Given the description of an element on the screen output the (x, y) to click on. 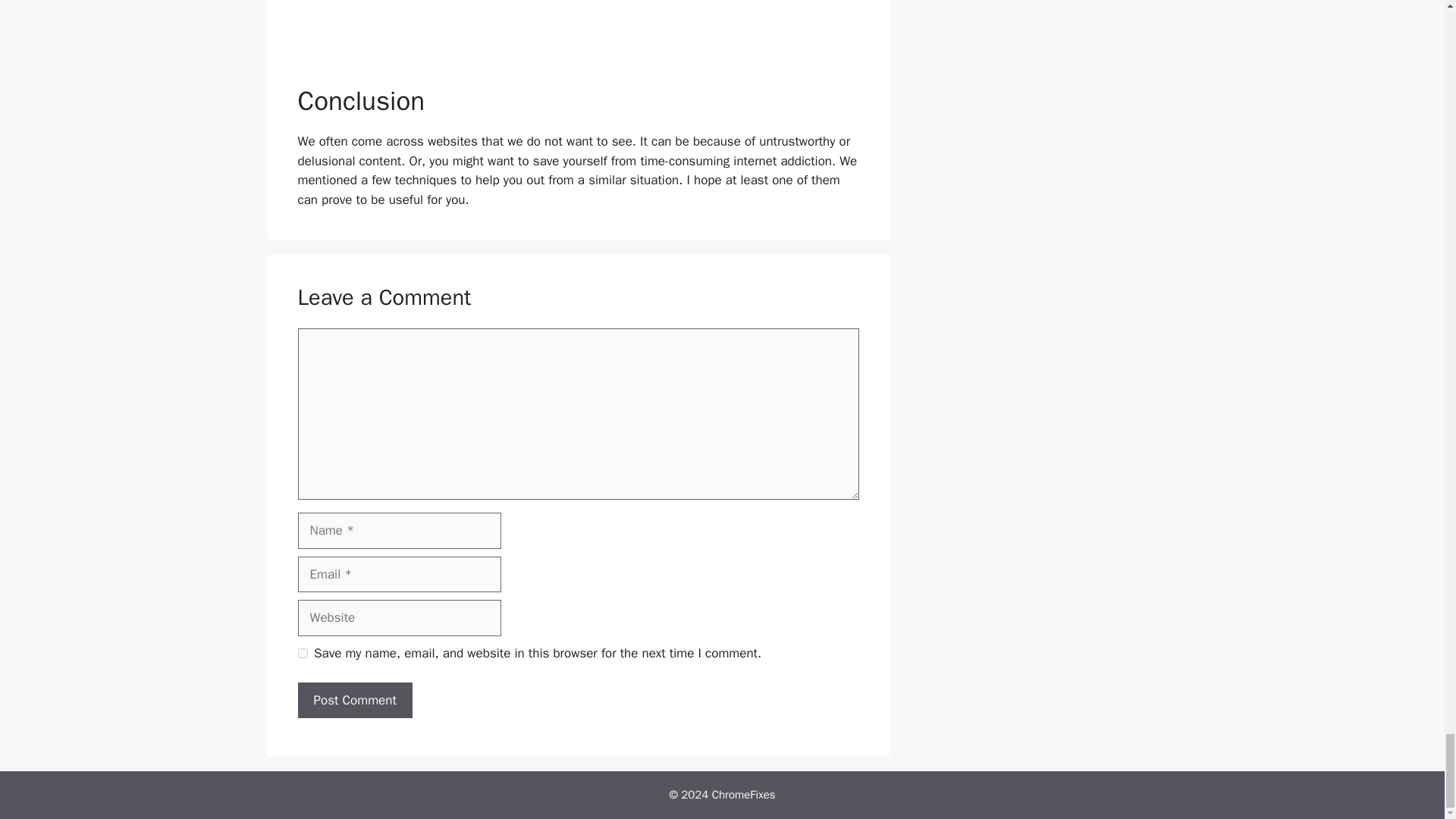
Post Comment (354, 700)
yes (302, 653)
Post Comment (354, 700)
